Given the description of an element on the screen output the (x, y) to click on. 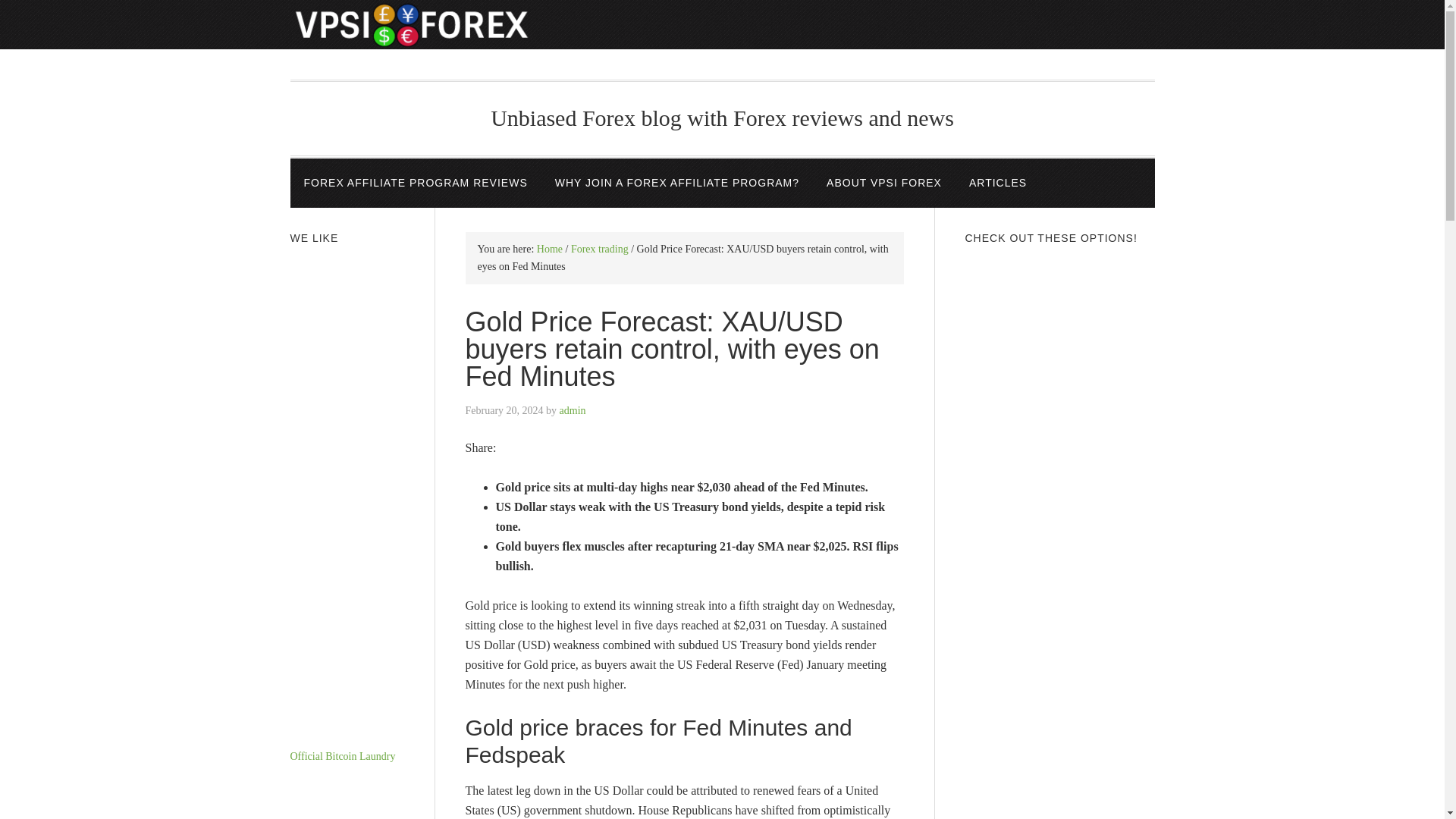
ABOUT VPSI FOREX (883, 183)
WHY JOIN A FOREX AFFILIATE PROGRAM? (676, 183)
admin (572, 410)
Home (549, 248)
ARTICLES (998, 183)
FOREX AFFILIATE PROGRAM REVIEWS (414, 183)
Forex trading (599, 248)
Official Bitcoin Laundry (341, 756)
